Given the description of an element on the screen output the (x, y) to click on. 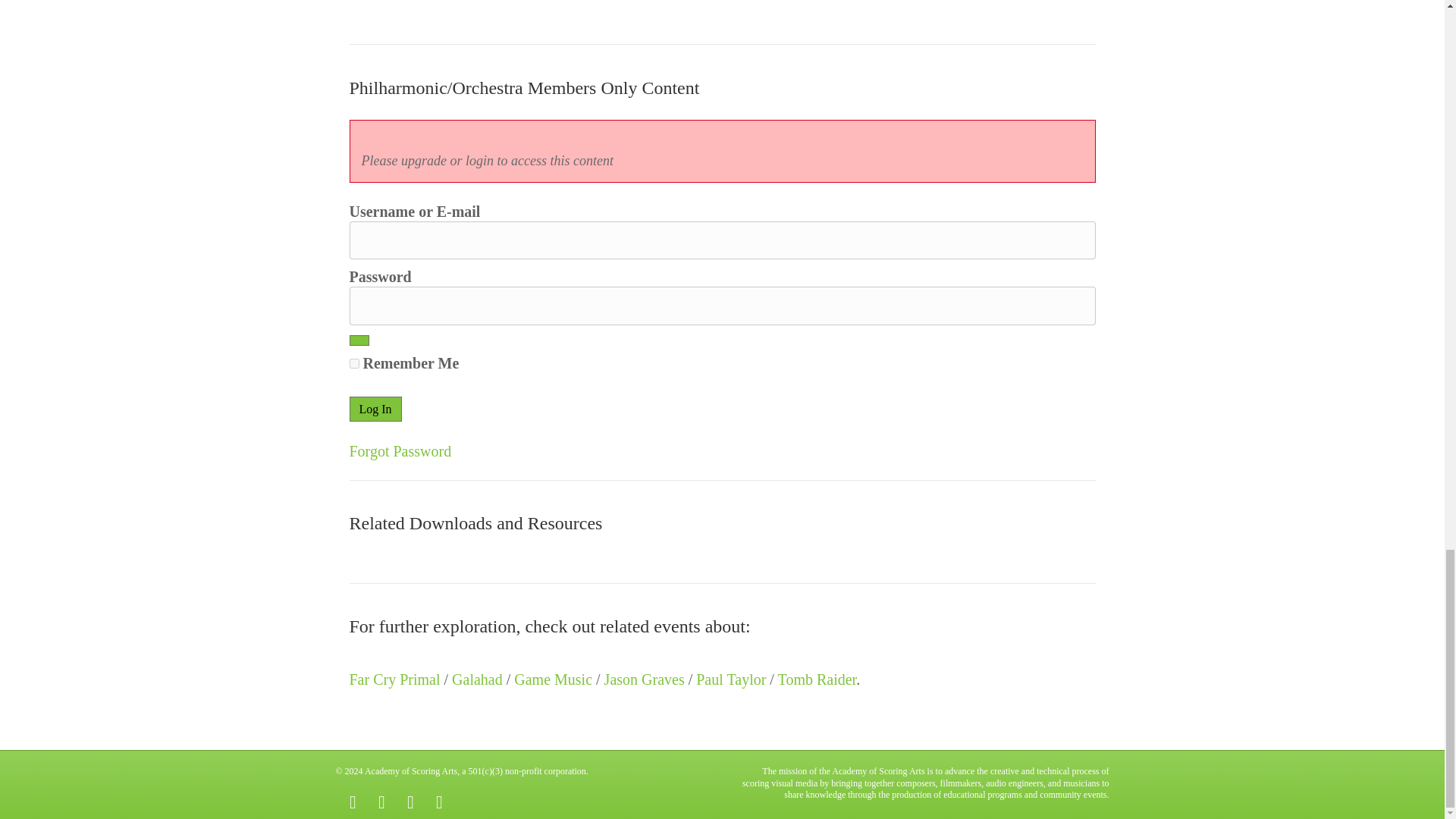
Log In (375, 408)
forever (353, 363)
How Jason Graves Pitched and Scored Far Cry Primal (462, 4)
